Given the description of an element on the screen output the (x, y) to click on. 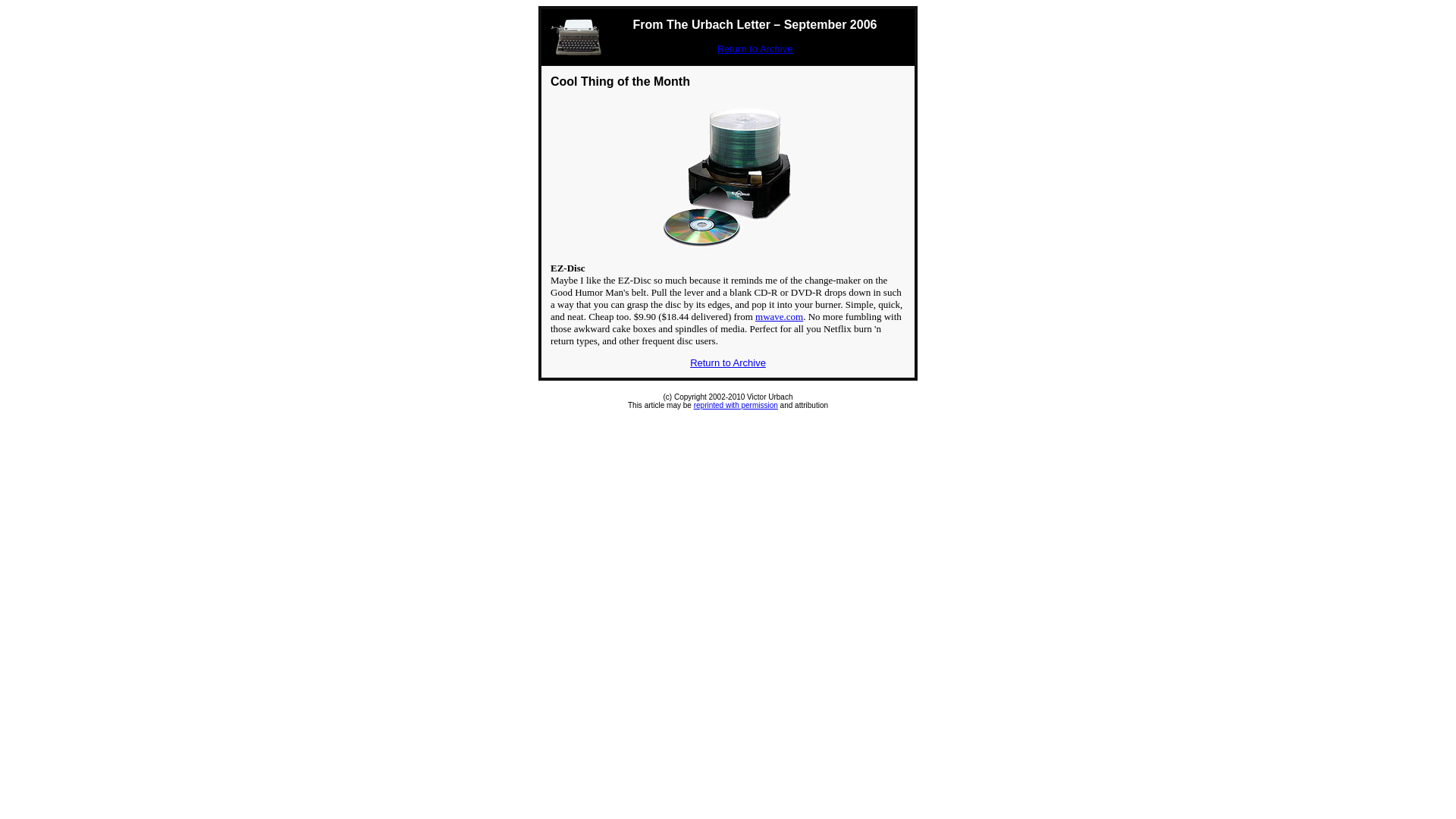
mwave.com (779, 316)
Return to Archive (727, 362)
reprinted with permission (735, 405)
Return to Archive (755, 48)
